Given the description of an element on the screen output the (x, y) to click on. 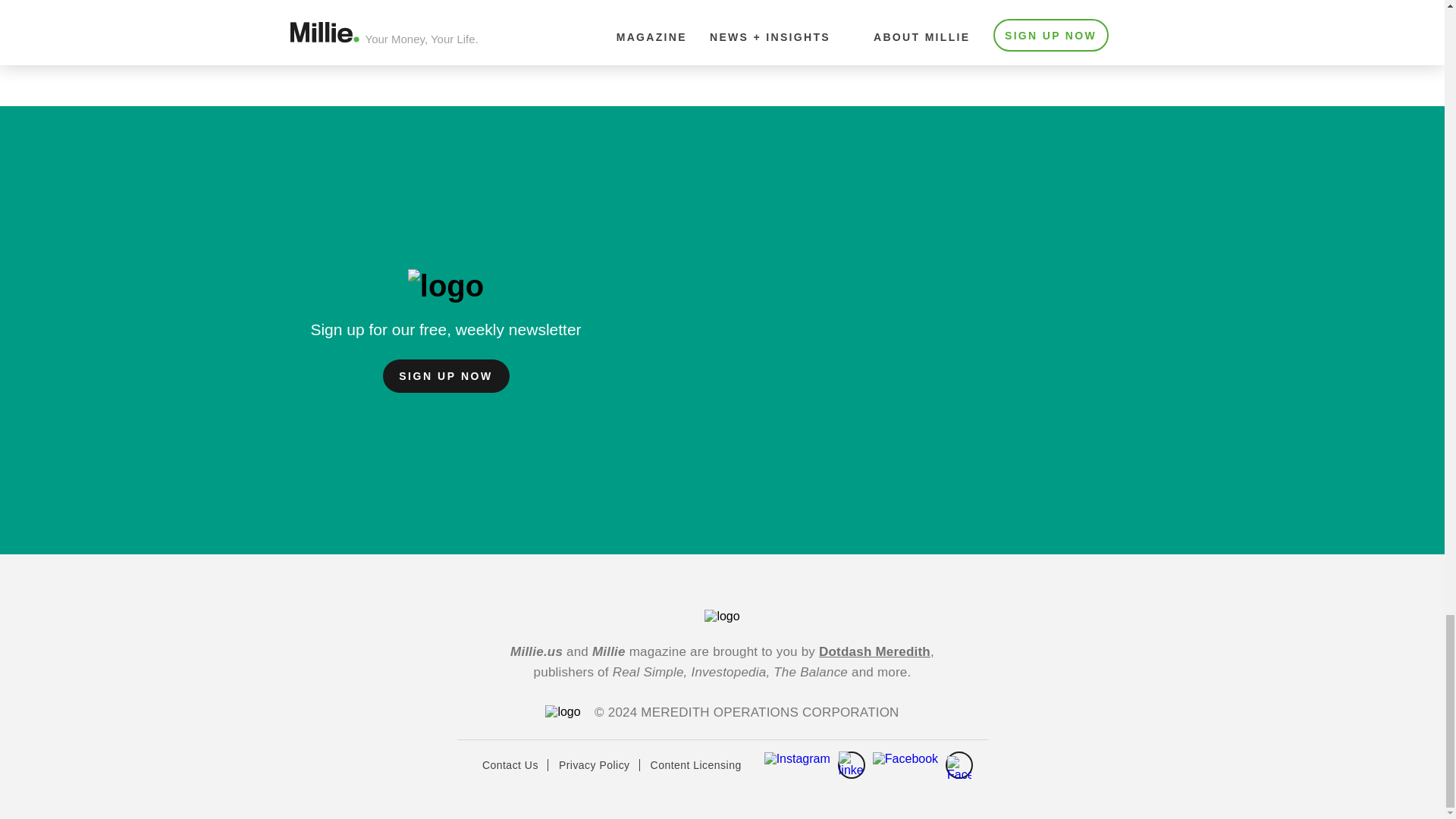
Dotdash Meredith (874, 651)
linkedin (851, 764)
Instagram (796, 758)
